Given the description of an element on the screen output the (x, y) to click on. 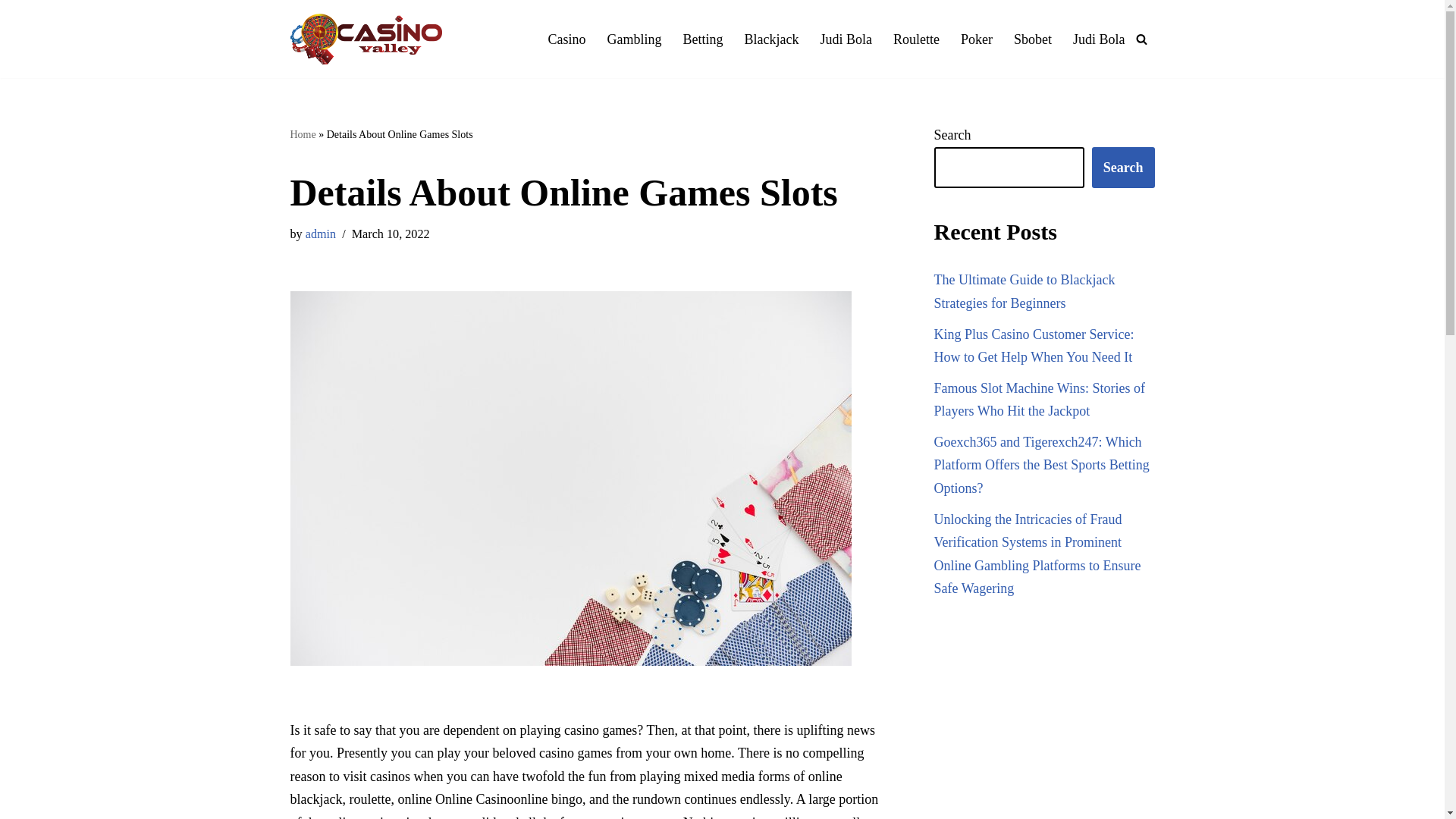
Home (302, 134)
Sbobet (1032, 38)
Judi Bola (1099, 38)
Blackjack (770, 38)
Casino (566, 38)
Judi Bola (845, 38)
Gambling (634, 38)
Poker (976, 38)
admin (320, 233)
Posts by admin (320, 233)
